Given the description of an element on the screen output the (x, y) to click on. 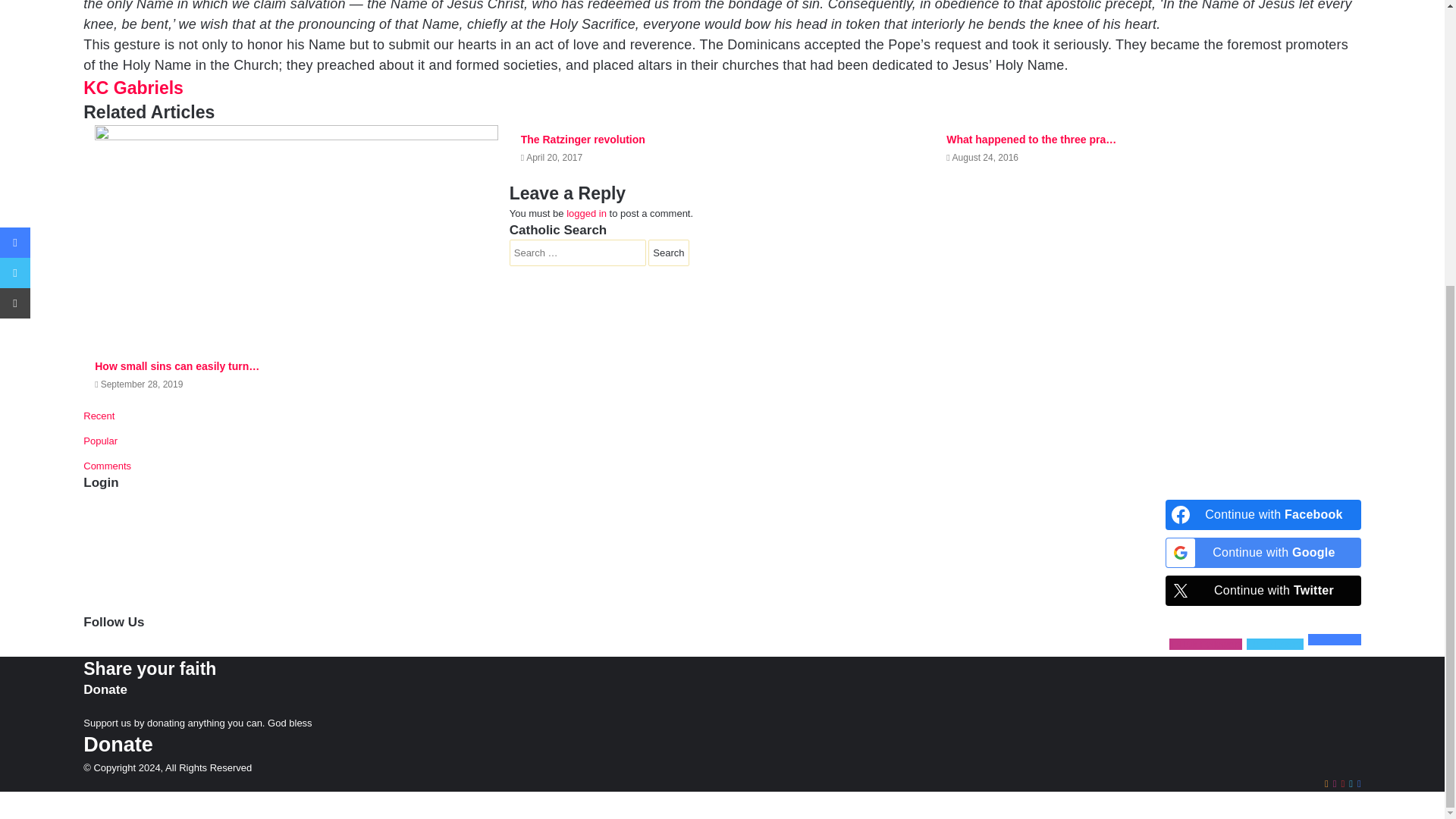
Search (667, 252)
Search (667, 252)
KC Gabriels (132, 87)
